Given the description of an element on the screen output the (x, y) to click on. 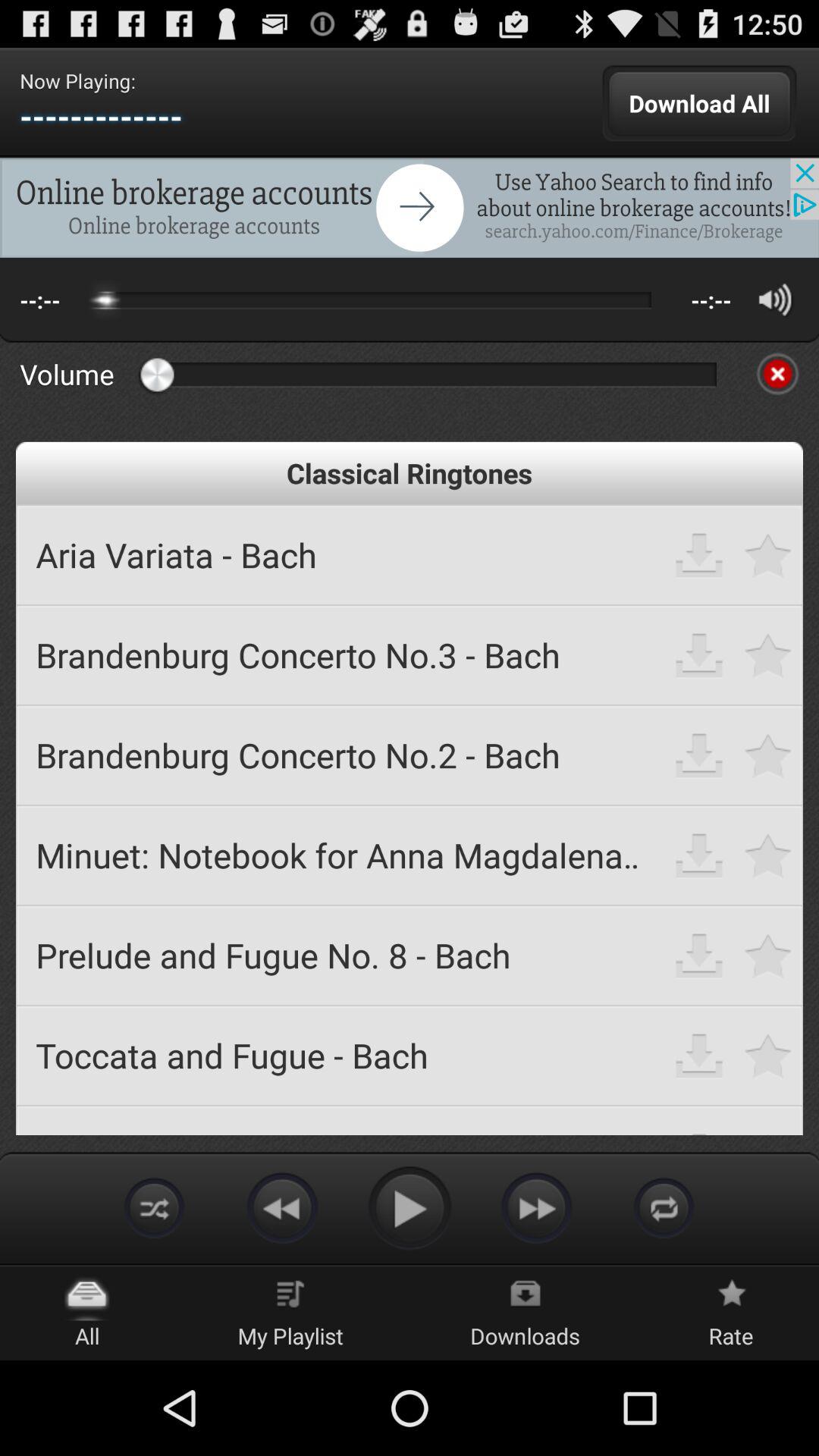
play on repeat (664, 1207)
